Given the description of an element on the screen output the (x, y) to click on. 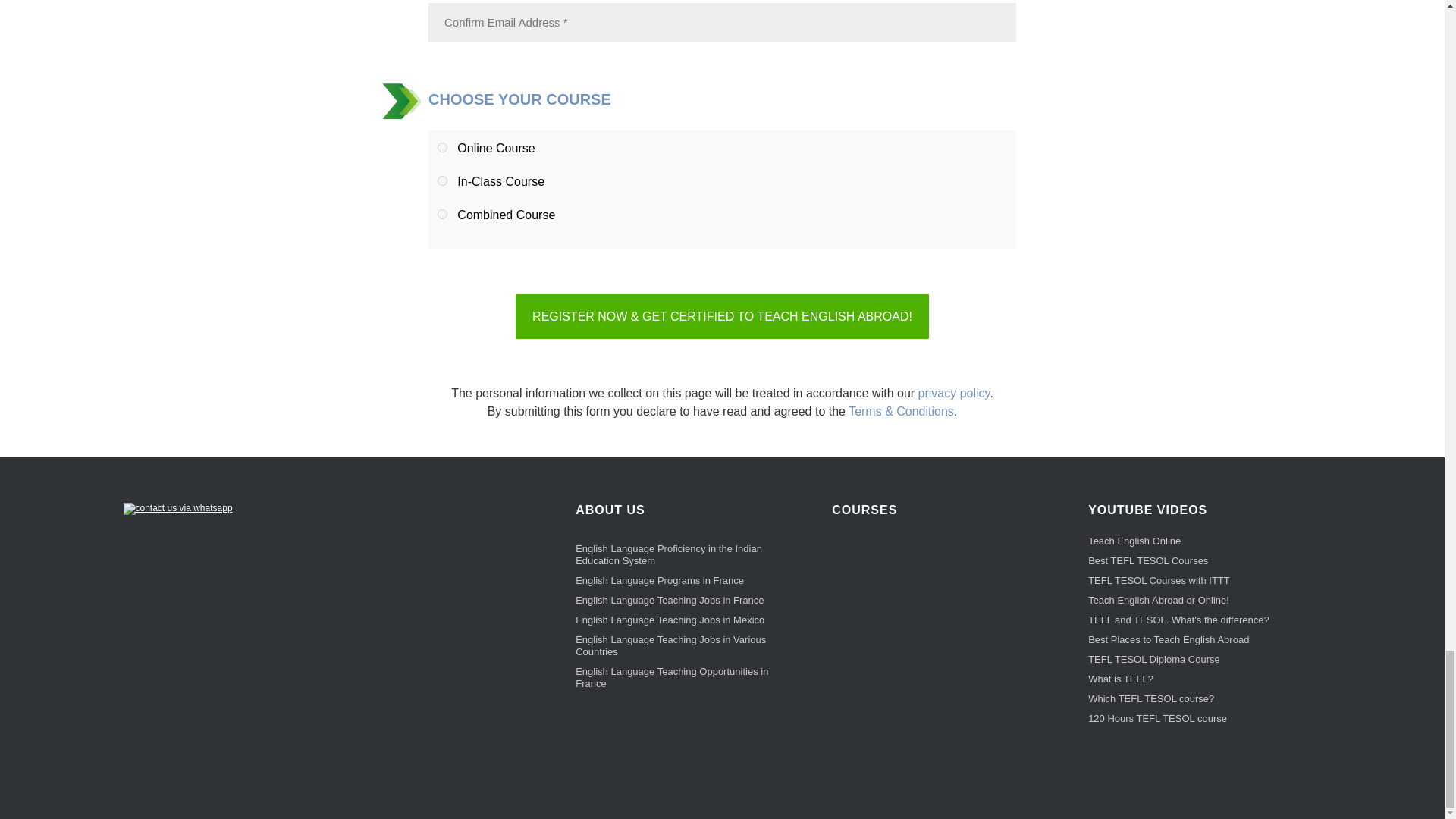
Combined Course (442, 214)
Online Course (442, 147)
Intensive Course (442, 180)
